Given the description of an element on the screen output the (x, y) to click on. 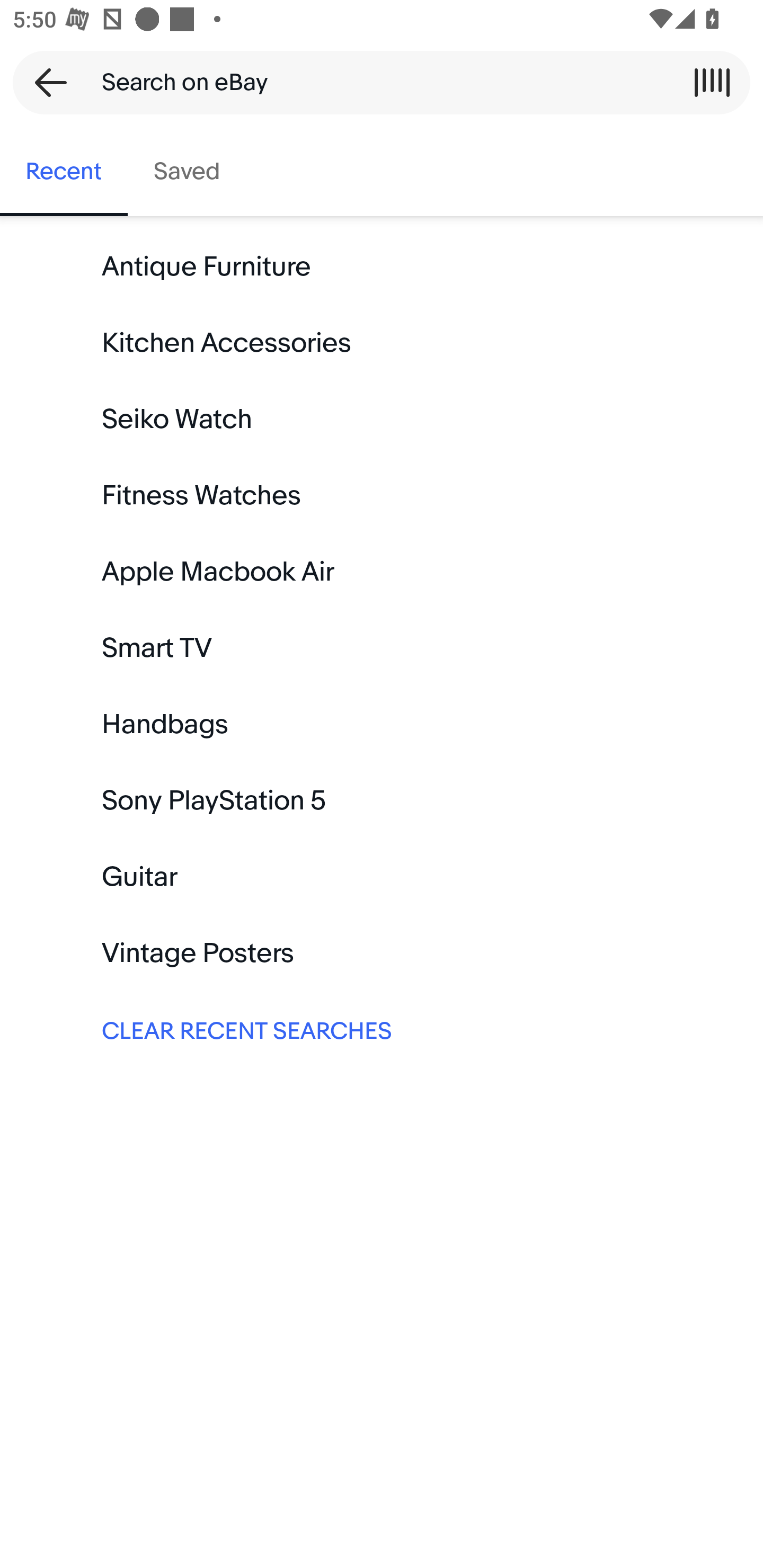
Back (44, 82)
Scan a barcode (711, 82)
Search on eBay (375, 82)
Saved, tab 2 of 2 Saved (186, 171)
Seiko Watch Keyword search Seiko Watch: (381, 419)
Fitness Watches Keyword search Fitness Watches: (381, 495)
Smart TV Keyword search Smart TV: (381, 647)
Handbags Keyword search Handbags: (381, 724)
Guitar Keyword search Guitar: (381, 876)
Vintage Posters Keyword search Vintage Posters: (381, 952)
CLEAR RECENT SEARCHES (381, 1028)
